Given the description of an element on the screen output the (x, y) to click on. 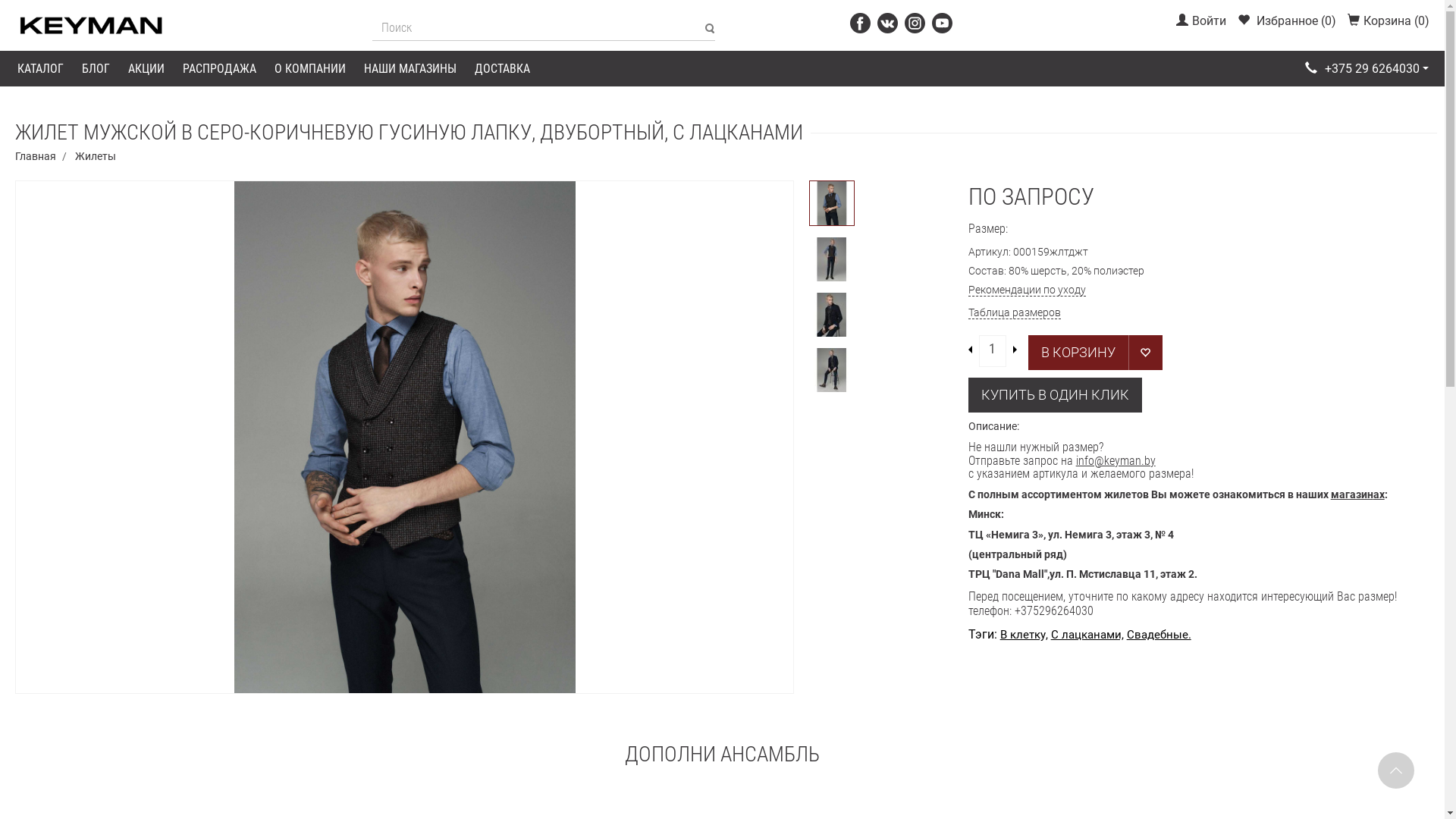
info@keyman.by Element type: text (1115, 460)
